Given the description of an element on the screen output the (x, y) to click on. 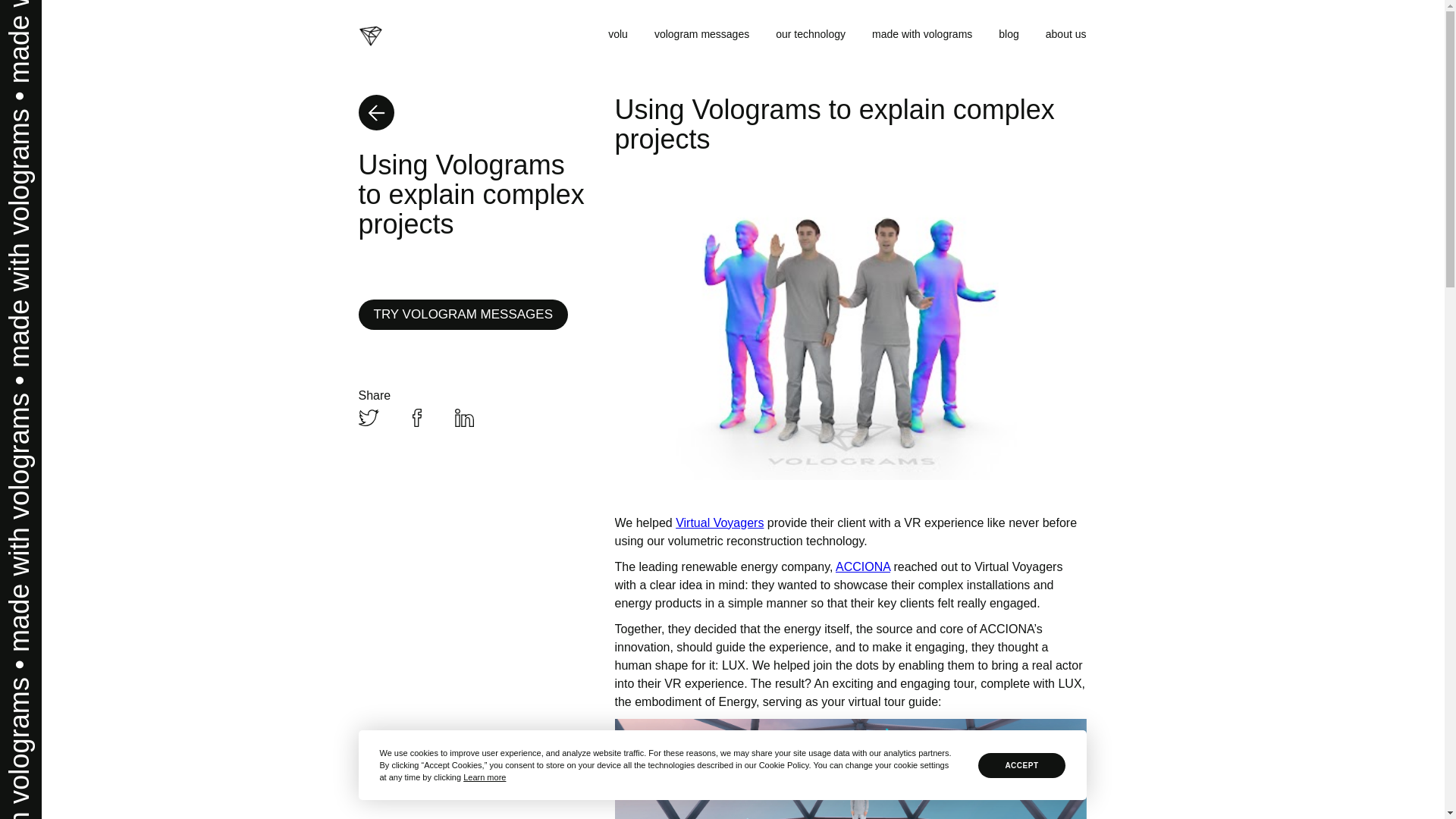
ACCIONA (862, 566)
Virtual Voyagers (718, 522)
volu (617, 34)
Learn more (484, 777)
ACCEPT (1021, 764)
blog (1007, 34)
TRY VOLOGRAM MESSAGES (462, 314)
vologram messages (701, 34)
about us (1065, 34)
our technology (810, 34)
made with volograms (922, 34)
